Given the description of an element on the screen output the (x, y) to click on. 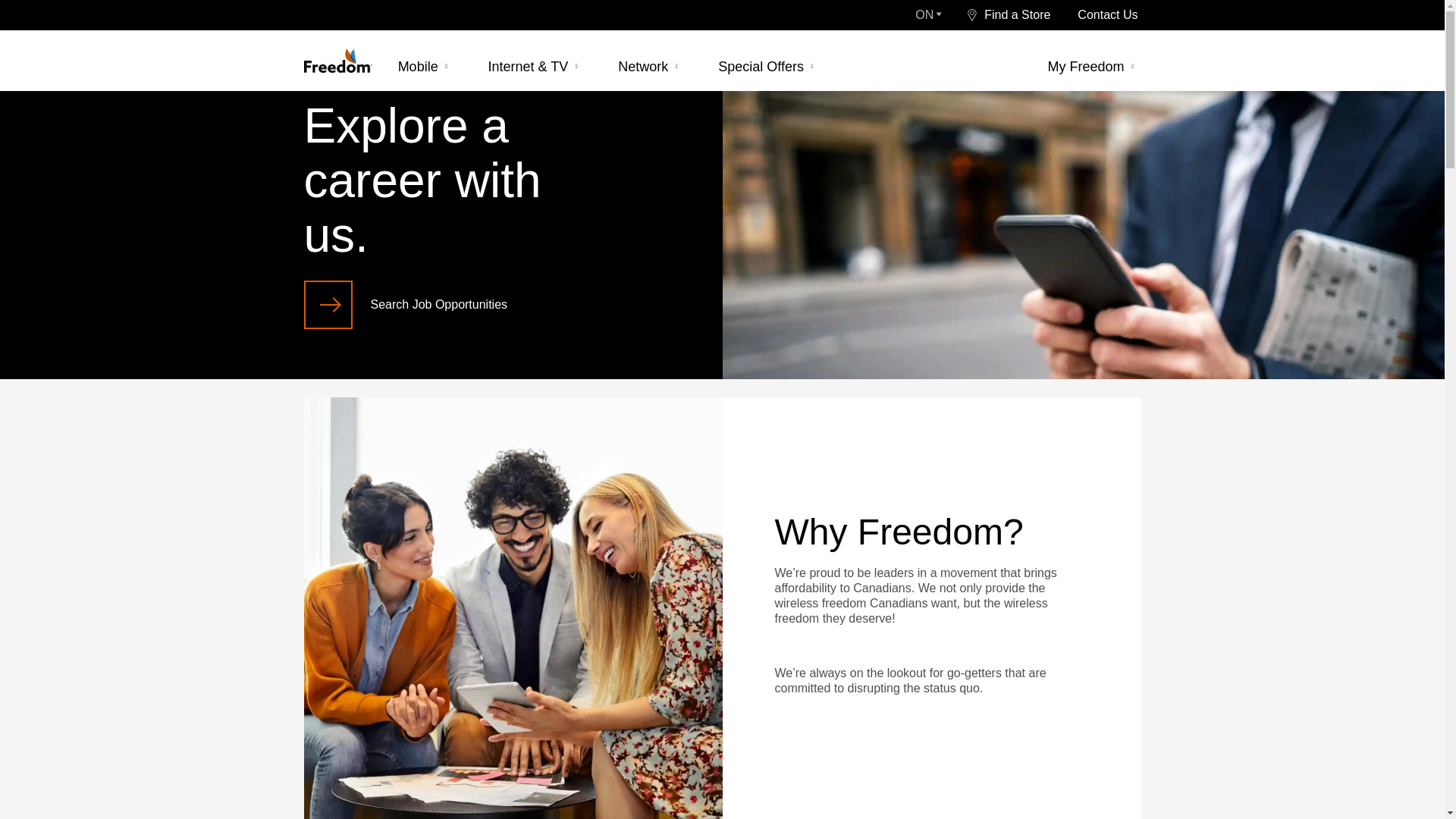
My Freedom (1091, 65)
Mobile (427, 65)
Contact Us (1107, 14)
Find a Store (1009, 14)
Special Offers (770, 65)
Network (652, 65)
